Given the description of an element on the screen output the (x, y) to click on. 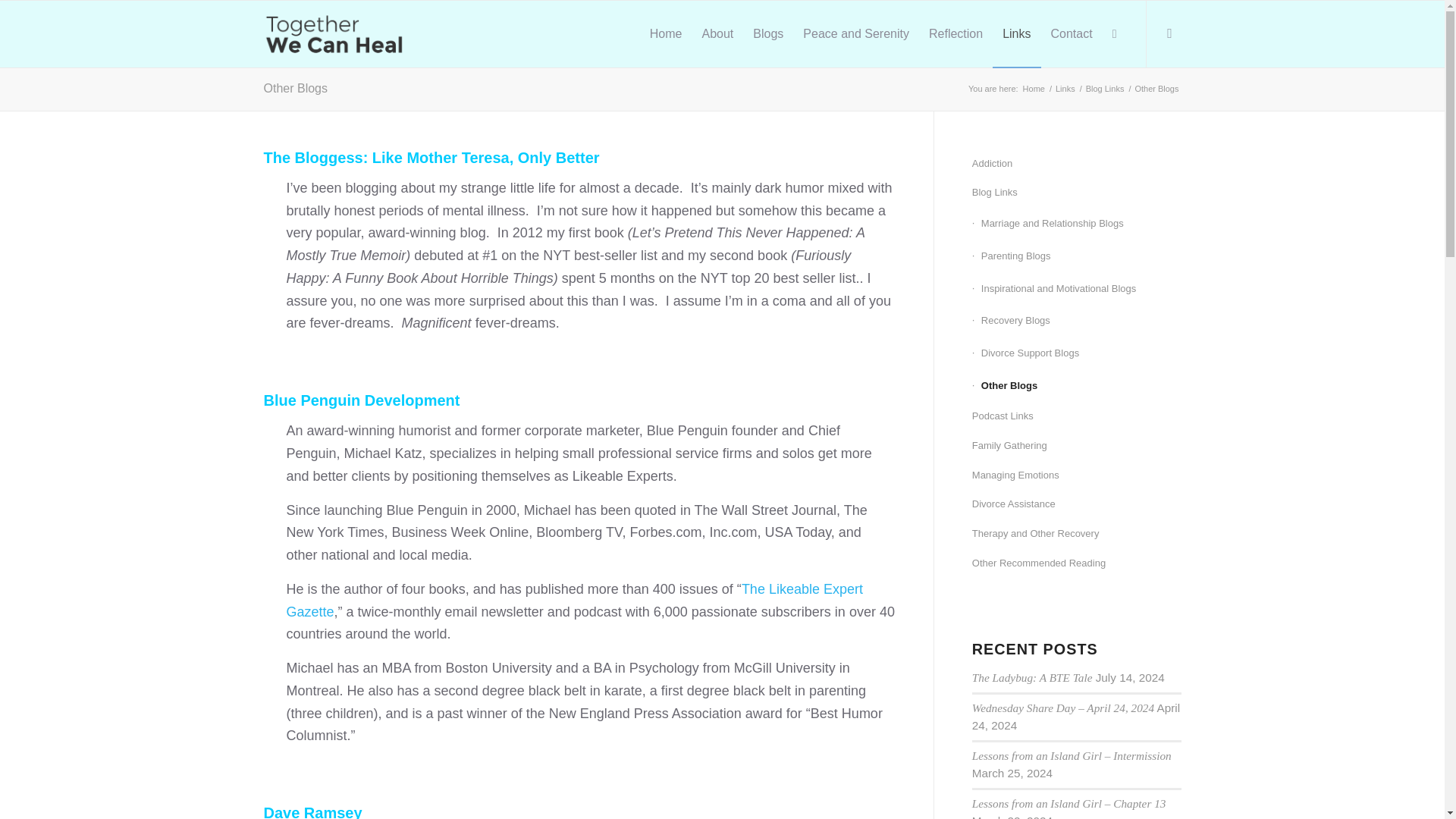
Blog Links (1104, 89)
Twitter (1169, 33)
Peace and Serenity (855, 33)
Reflection (955, 33)
Permanent Link: Other Blogs (295, 88)
Together We Can Heal (1033, 89)
Links (1064, 89)
Together Logo Dark (333, 33)
